Given the description of an element on the screen output the (x, y) to click on. 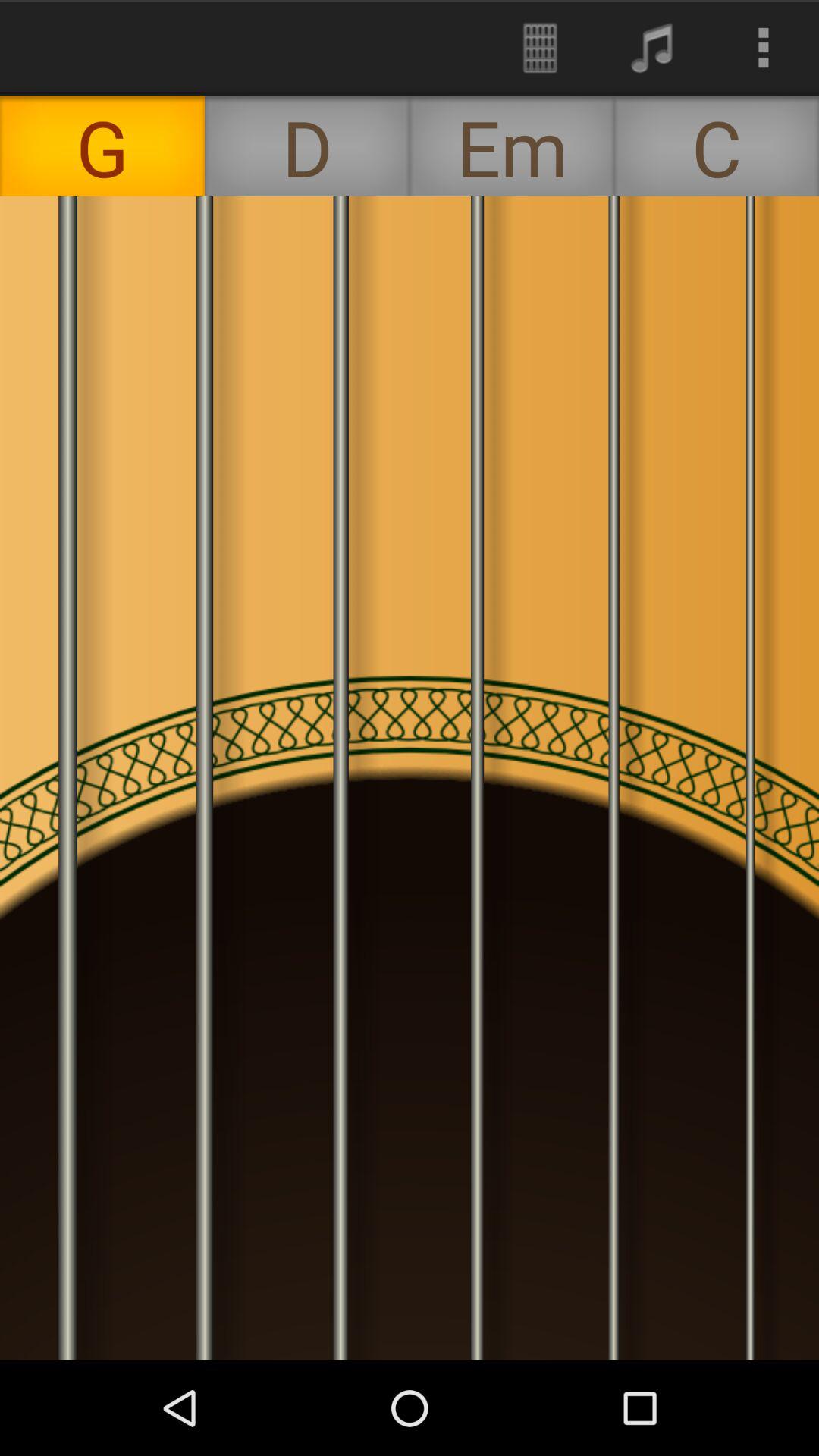
open the item to the right of g (306, 145)
